Given the description of an element on the screen output the (x, y) to click on. 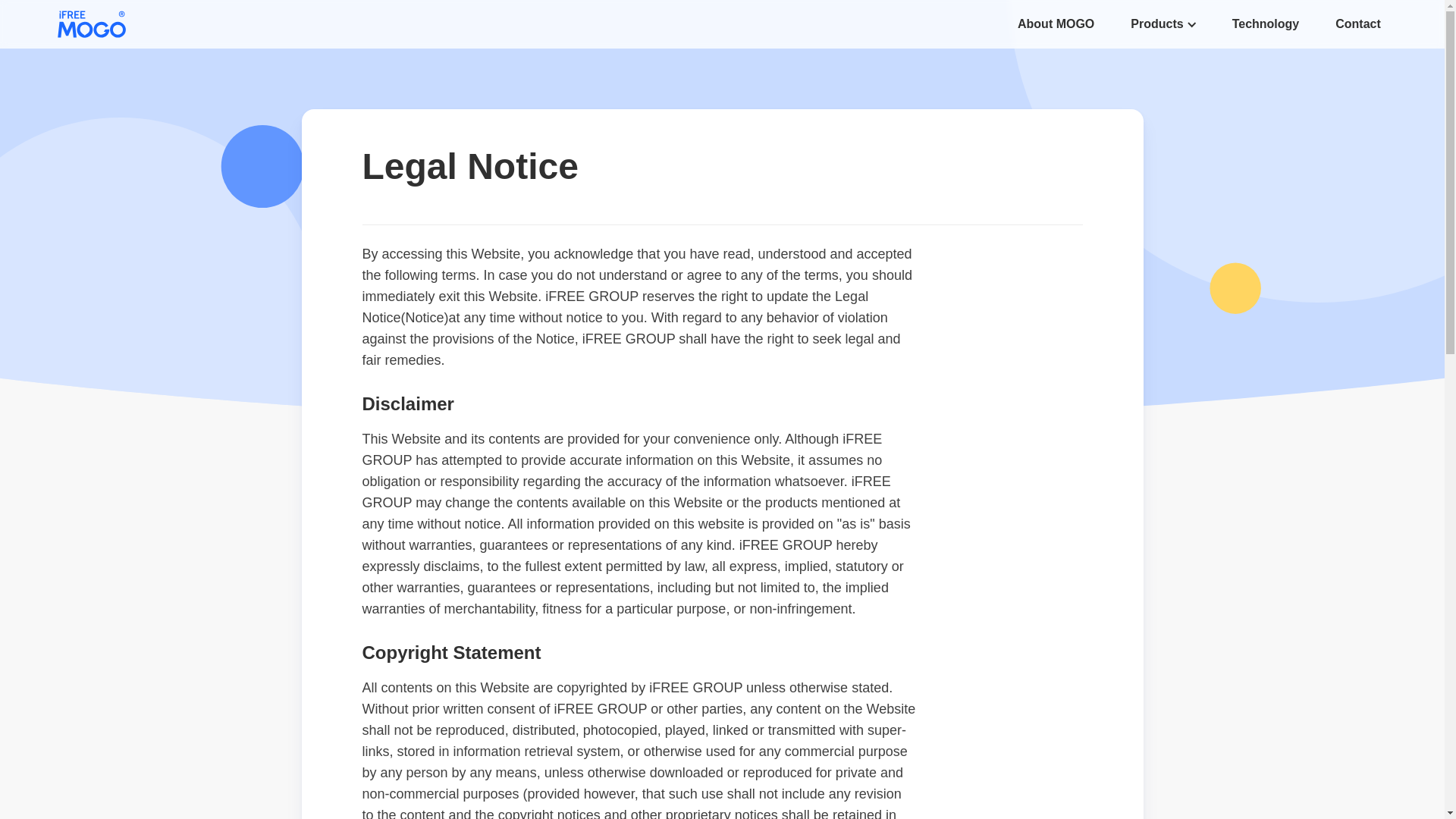
Contact (1358, 24)
About MOGO (1055, 24)
Technology (1265, 24)
